Given the description of an element on the screen output the (x, y) to click on. 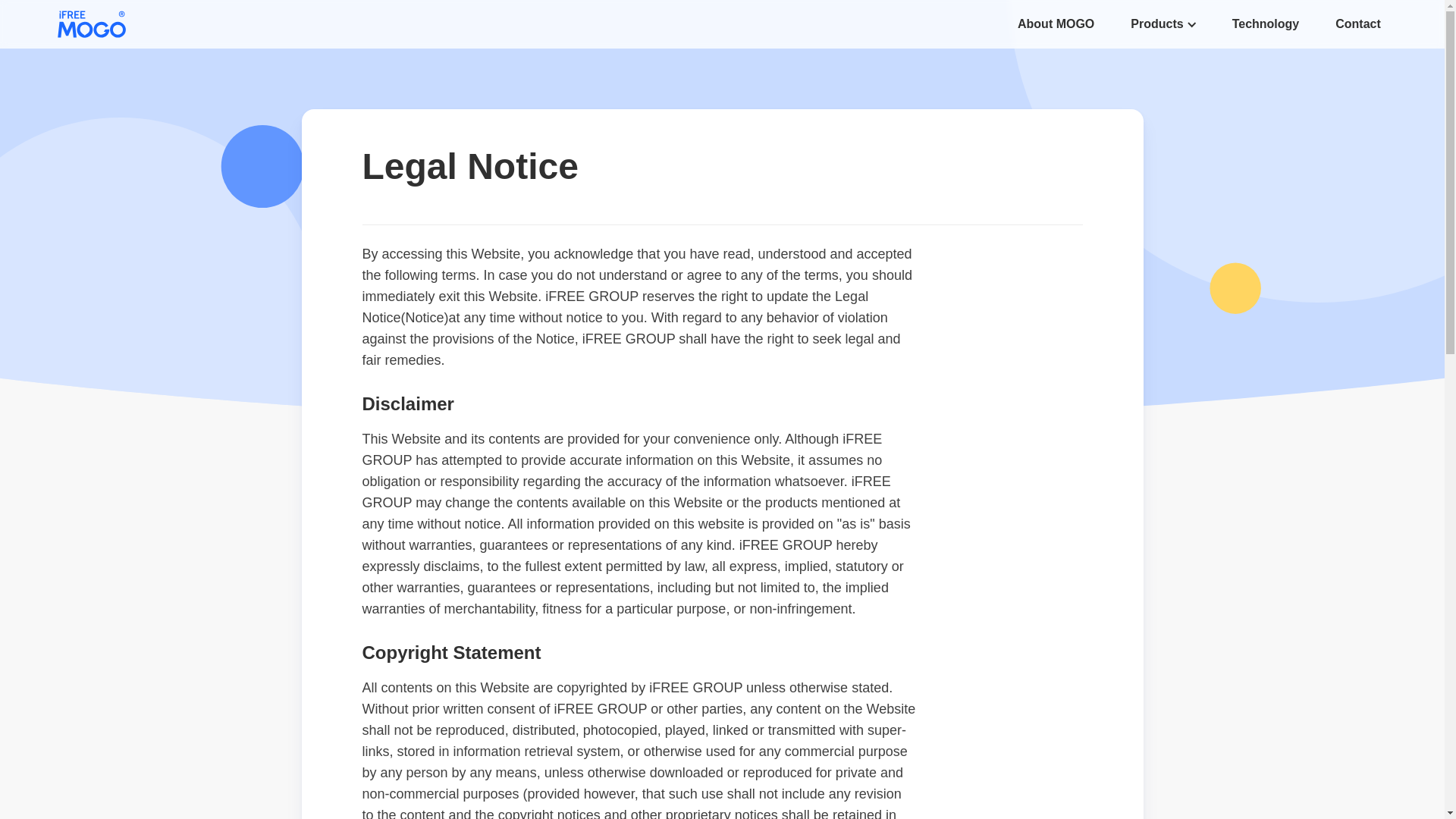
Contact (1358, 24)
About MOGO (1055, 24)
Technology (1265, 24)
